Given the description of an element on the screen output the (x, y) to click on. 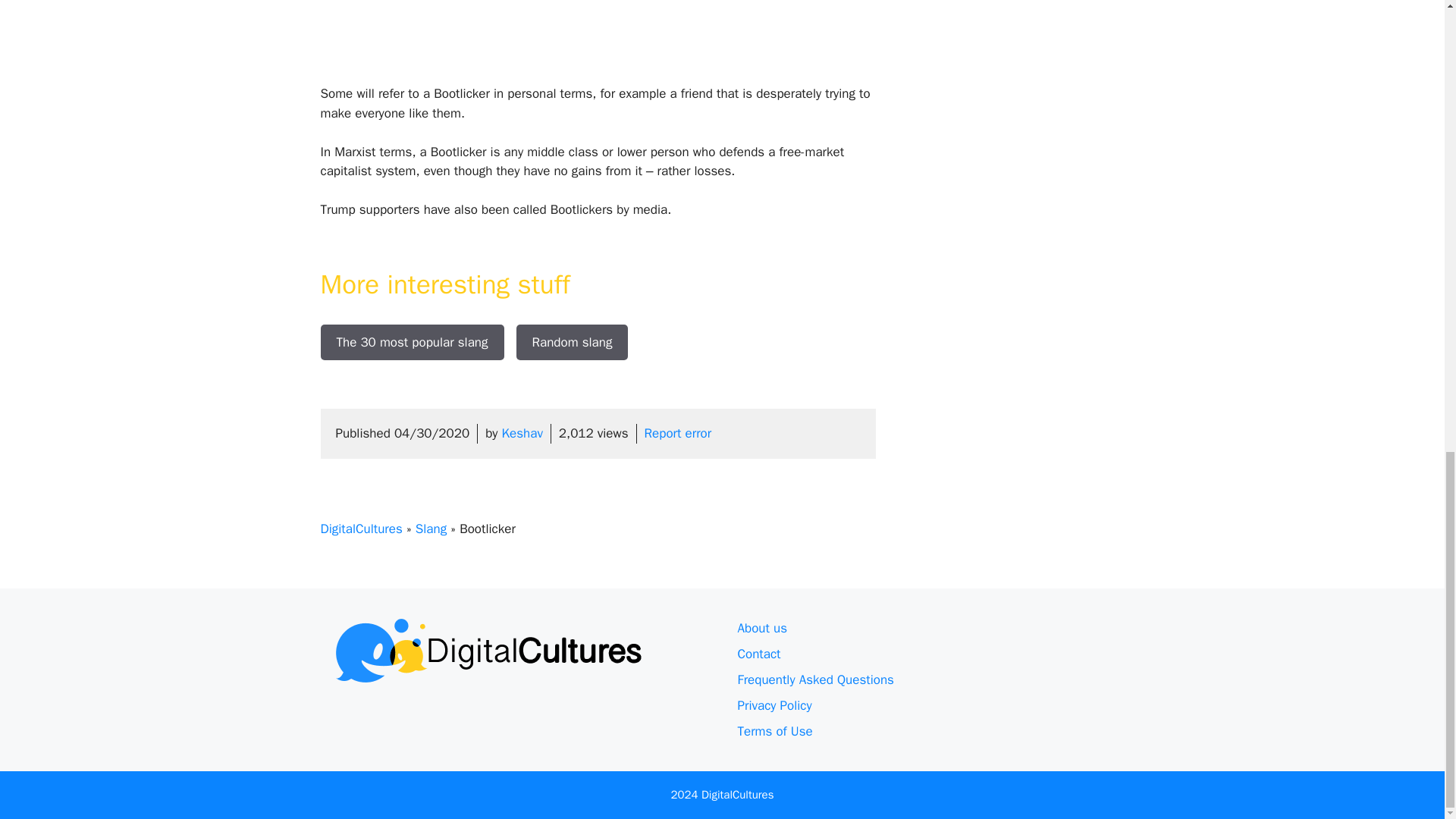
Slang (430, 528)
Report error (678, 433)
Keshav (522, 433)
DigitalCultures (360, 528)
The 30 most popular slang (411, 342)
About us (761, 627)
Random slang (571, 342)
